Given the description of an element on the screen output the (x, y) to click on. 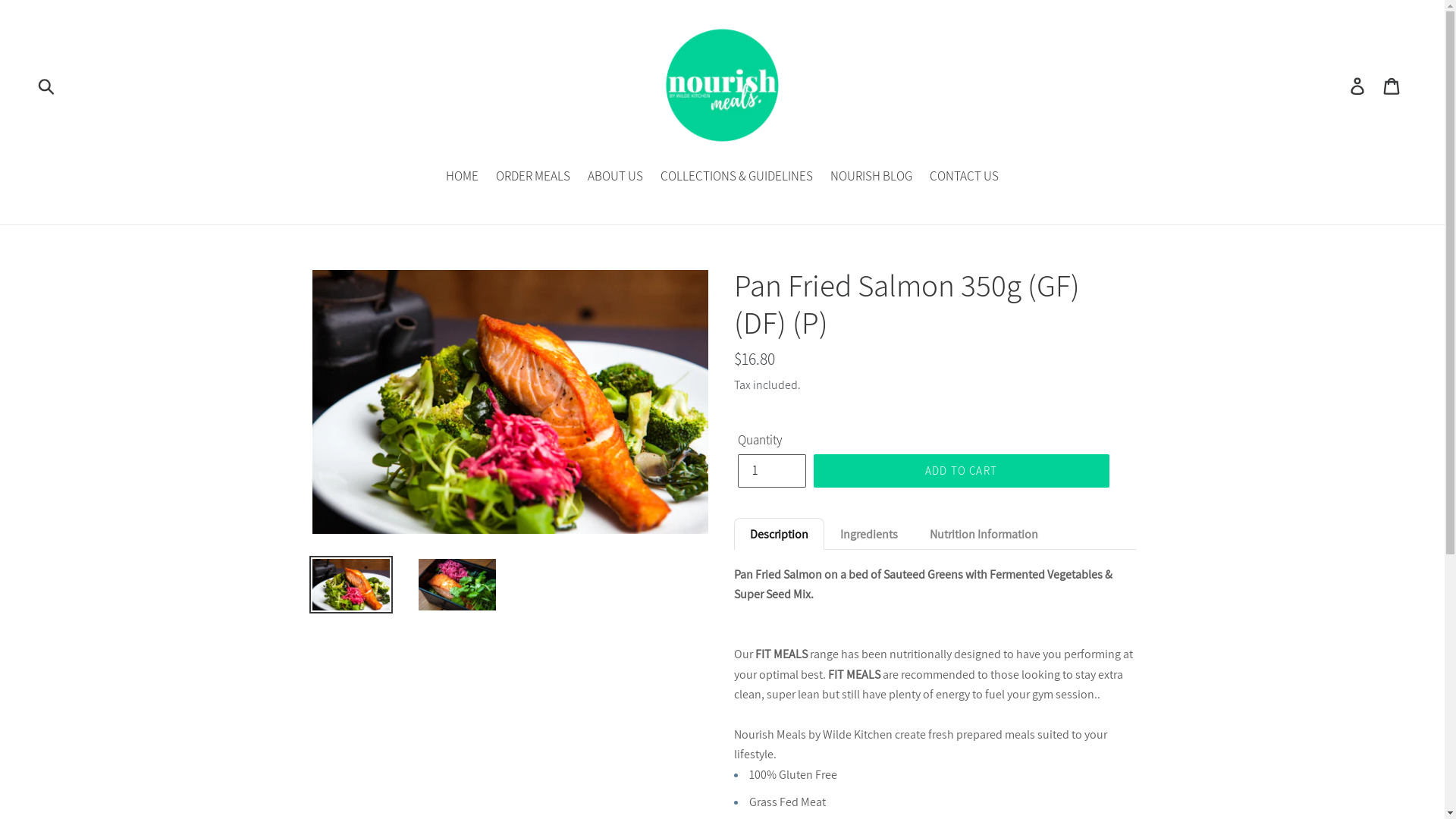
ORDER MEALS Element type: text (532, 177)
ADD TO CART Element type: text (960, 470)
Submit Element type: text (46, 84)
Cart Element type: text (1392, 85)
CONTACT US Element type: text (964, 177)
NOURISH BLOG Element type: text (870, 177)
ABOUT US Element type: text (615, 177)
COLLECTIONS & GUIDELINES Element type: text (736, 177)
Log in Element type: text (1358, 85)
HOME Element type: text (462, 177)
